Given the description of an element on the screen output the (x, y) to click on. 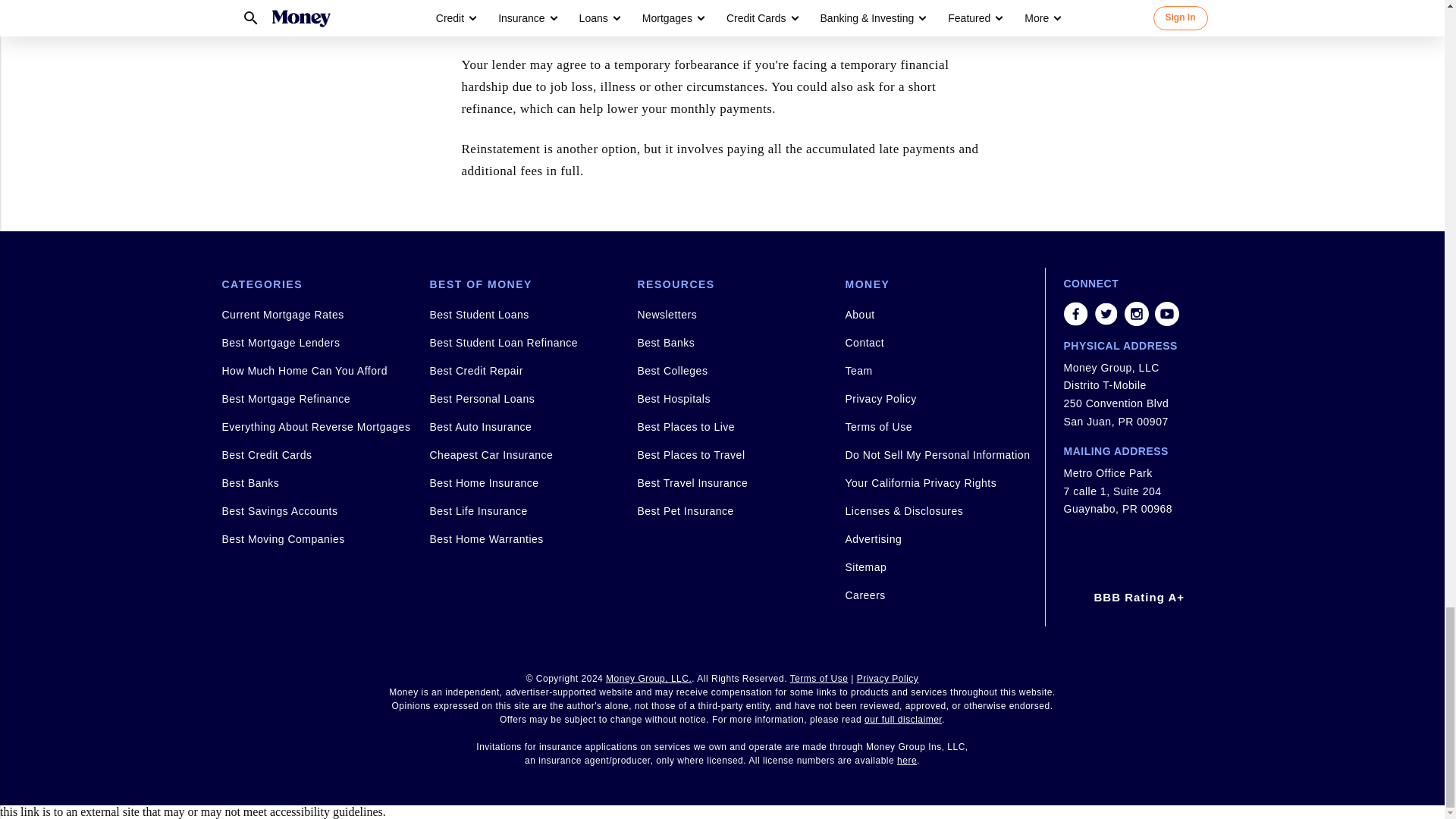
facebook share (1074, 313)
youtube share (1165, 313)
twitter share (1105, 313)
instagram share (1136, 313)
